Given the description of an element on the screen output the (x, y) to click on. 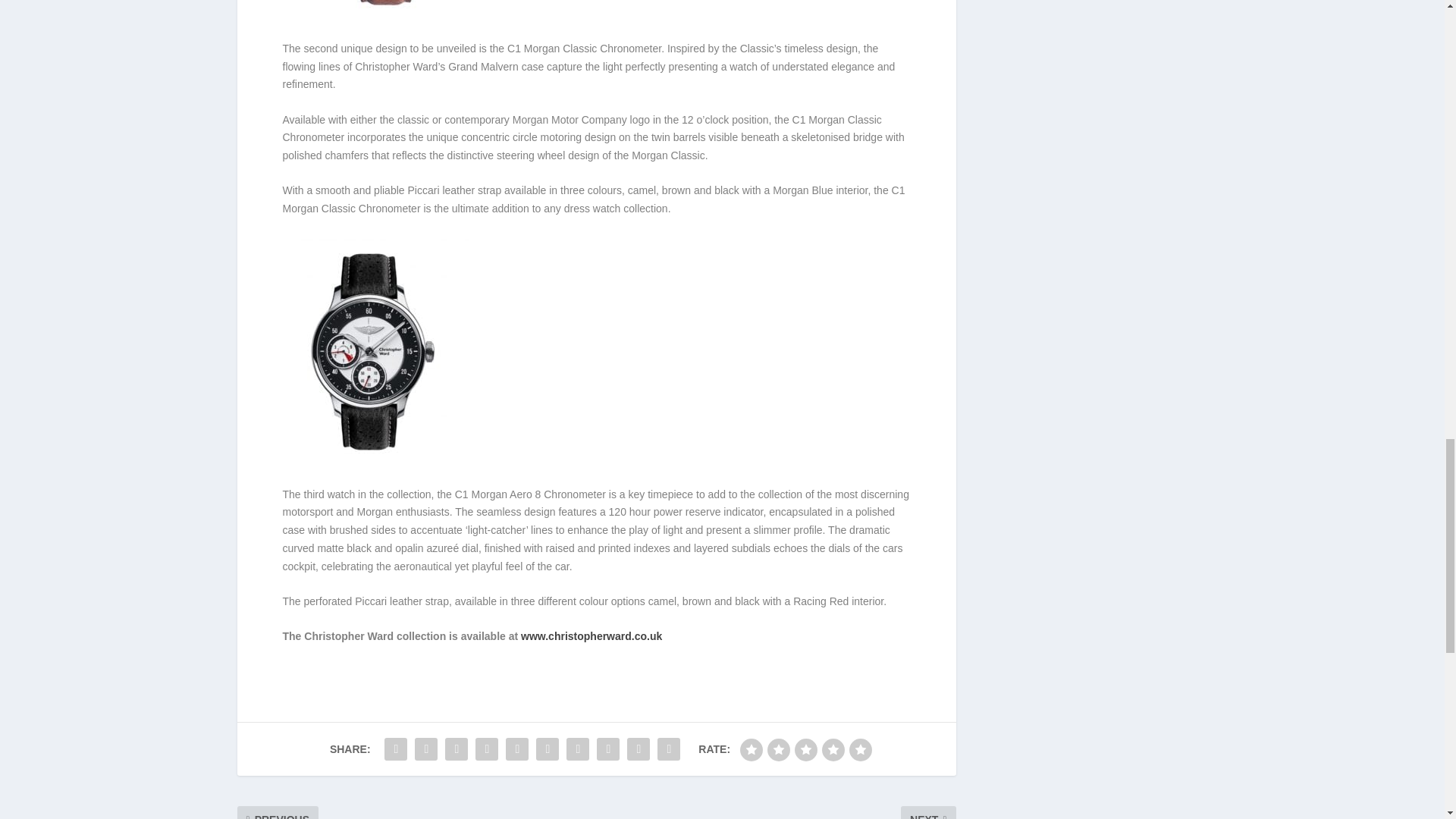
www.christopherward.co.uk (591, 635)
